Given the description of an element on the screen output the (x, y) to click on. 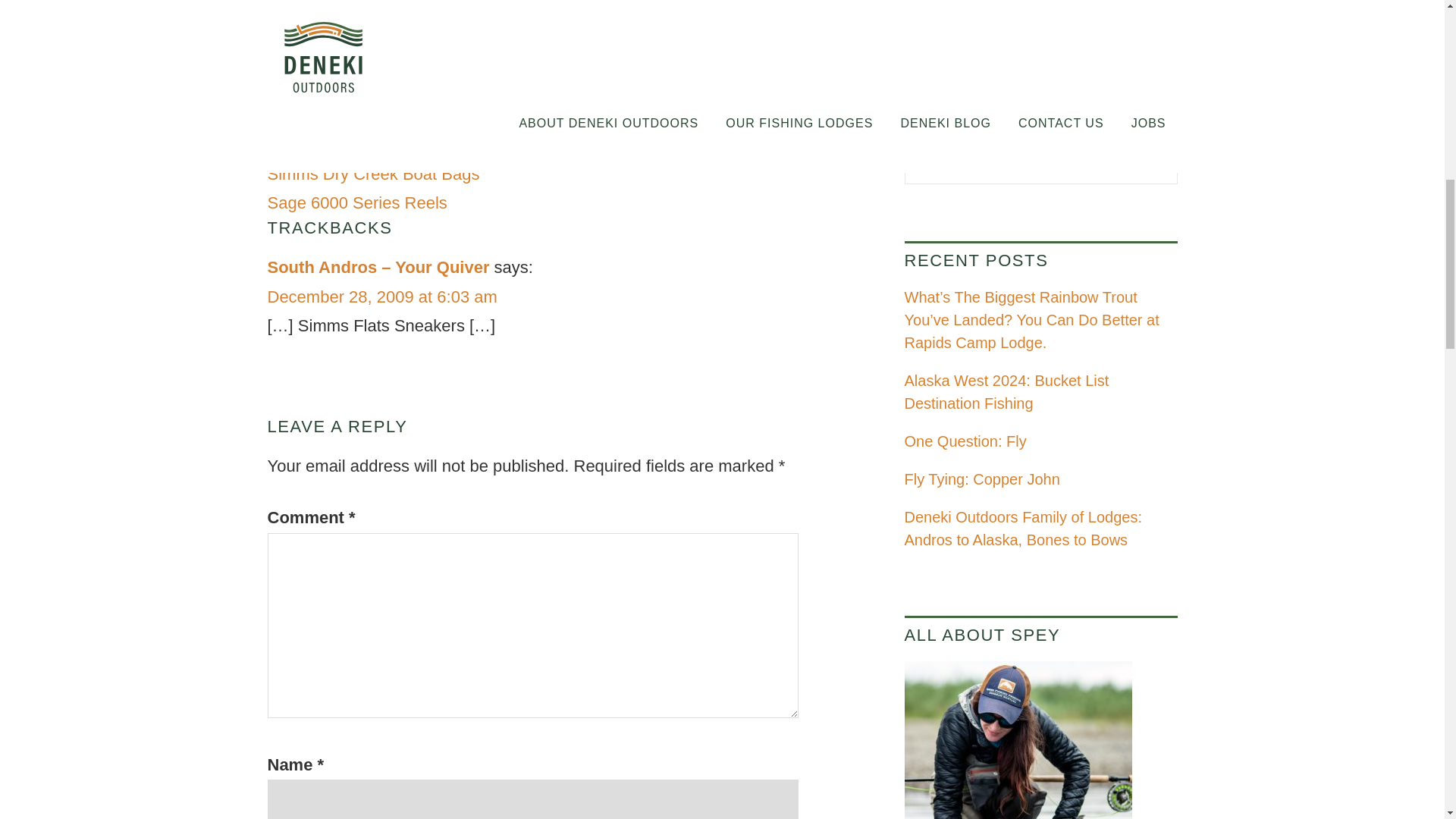
Sage 790-4 TCX (328, 144)
Sage 6000 Series Reels (356, 202)
December 28, 2009 at 6:03 am (381, 296)
Simms Dry Creek Boat Bags (372, 173)
